Given the description of an element on the screen output the (x, y) to click on. 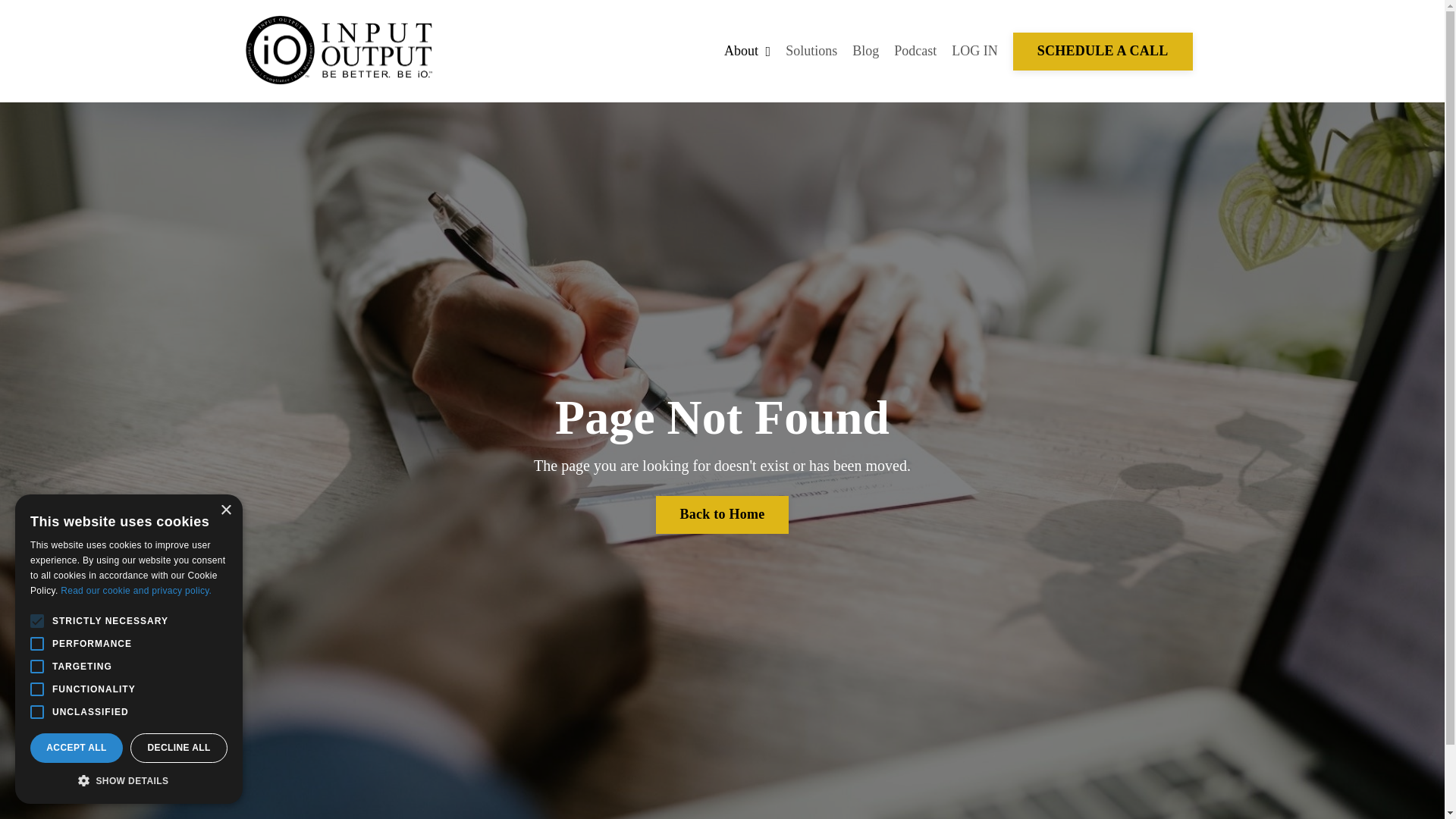
Solutions (811, 51)
Back to Home (722, 514)
SCHEDULE A CALL (1102, 51)
Read our cookie and privacy policy. (136, 590)
Podcast (914, 51)
LOG IN (974, 50)
Blog (865, 51)
About (746, 51)
